Given the description of an element on the screen output the (x, y) to click on. 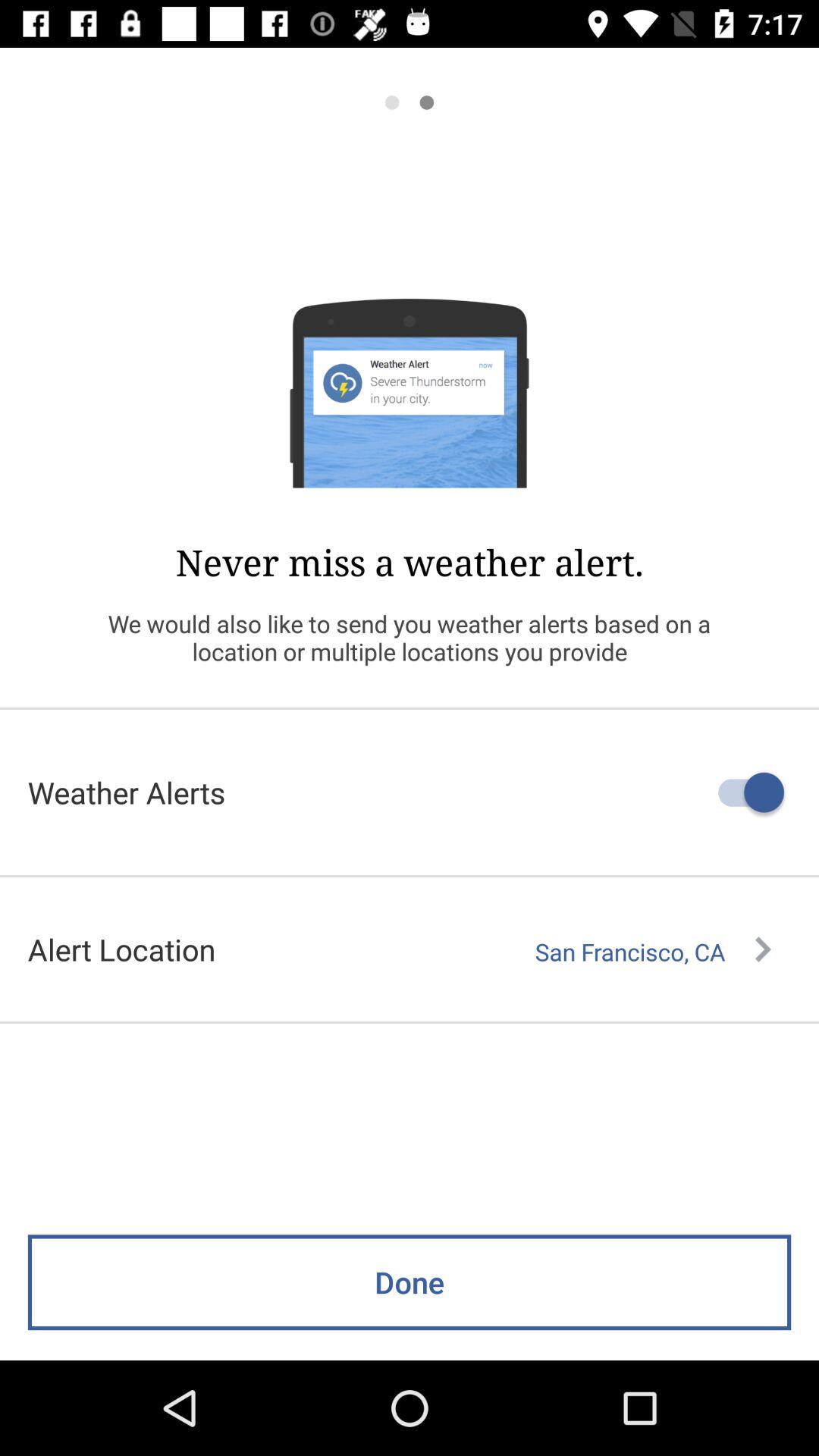
launch icon to the right of the alert location (653, 951)
